Given the description of an element on the screen output the (x, y) to click on. 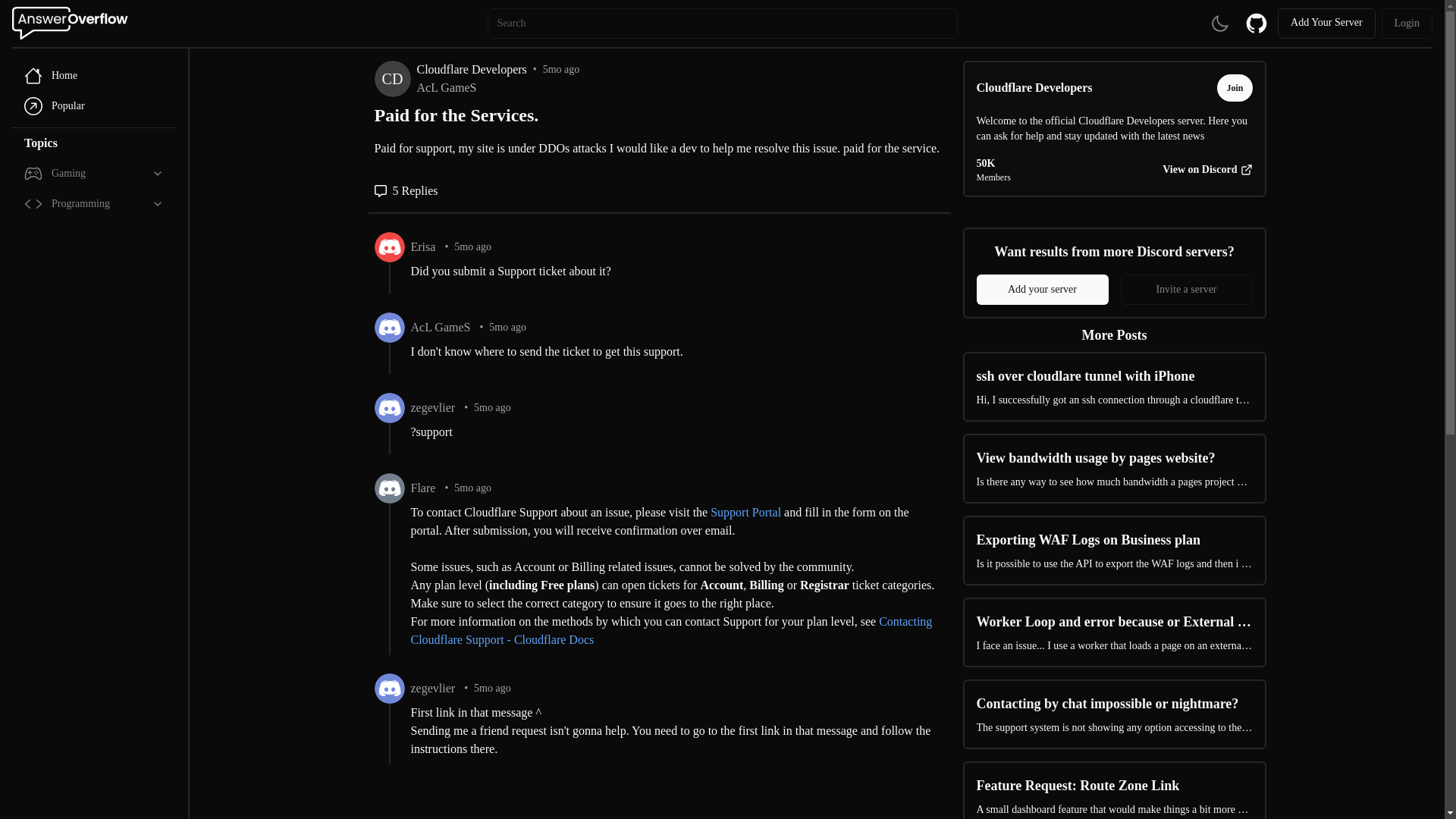
Gaming (93, 173)
CD (392, 78)
Cloudflare Developers (471, 69)
AcL GameS (497, 87)
Erisa (422, 247)
Programming (93, 204)
GitHub (1256, 23)
Join (1234, 87)
Popular (93, 105)
zegevlier (432, 407)
Cloudflare Developers (1034, 87)
Support Portal (745, 512)
